Given the description of an element on the screen output the (x, y) to click on. 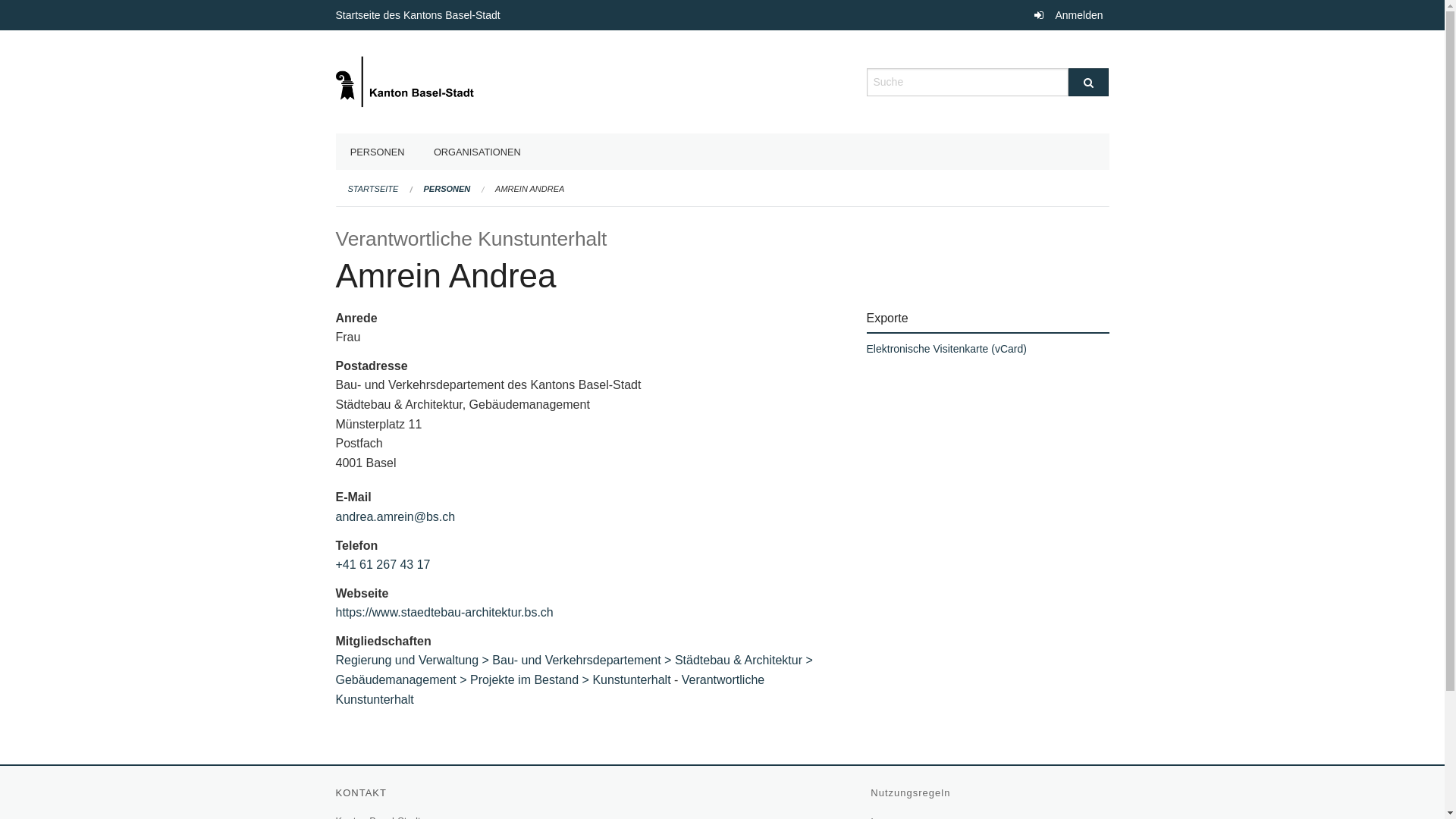
Elektronische Visitenkarte (vCard) Element type: text (946, 348)
ORGANISATIONEN Element type: text (477, 151)
STARTSEITE Element type: text (372, 188)
https://www.staedtebau-architektur.bs.ch
(External Link) Element type: text (445, 611)
Projekte im Bestand Element type: text (531, 679)
PERSONEN Element type: text (376, 151)
PERSONEN Element type: text (446, 188)
Regierung und Verwaltung Element type: text (413, 659)
Staatskalender Kanton Basel-Stadt Element type: hover (405, 81)
Startseite des Kantons Basel-Stadt
(External Link) Element type: text (419, 15)
+41 61 267 43 17 Element type: text (382, 564)
Nutzungsregeln
(External Link) Element type: text (911, 792)
Anmelden Element type: text (1067, 15)
Verantwortliche Kunstunterhalt Element type: text (549, 689)
AMREIN ANDREA Element type: text (529, 188)
andrea.amrein@bs.ch Element type: text (395, 516)
Kunstunterhalt Element type: text (631, 679)
Bau- und Verkehrsdepartement Element type: text (583, 659)
